Given the description of an element on the screen output the (x, y) to click on. 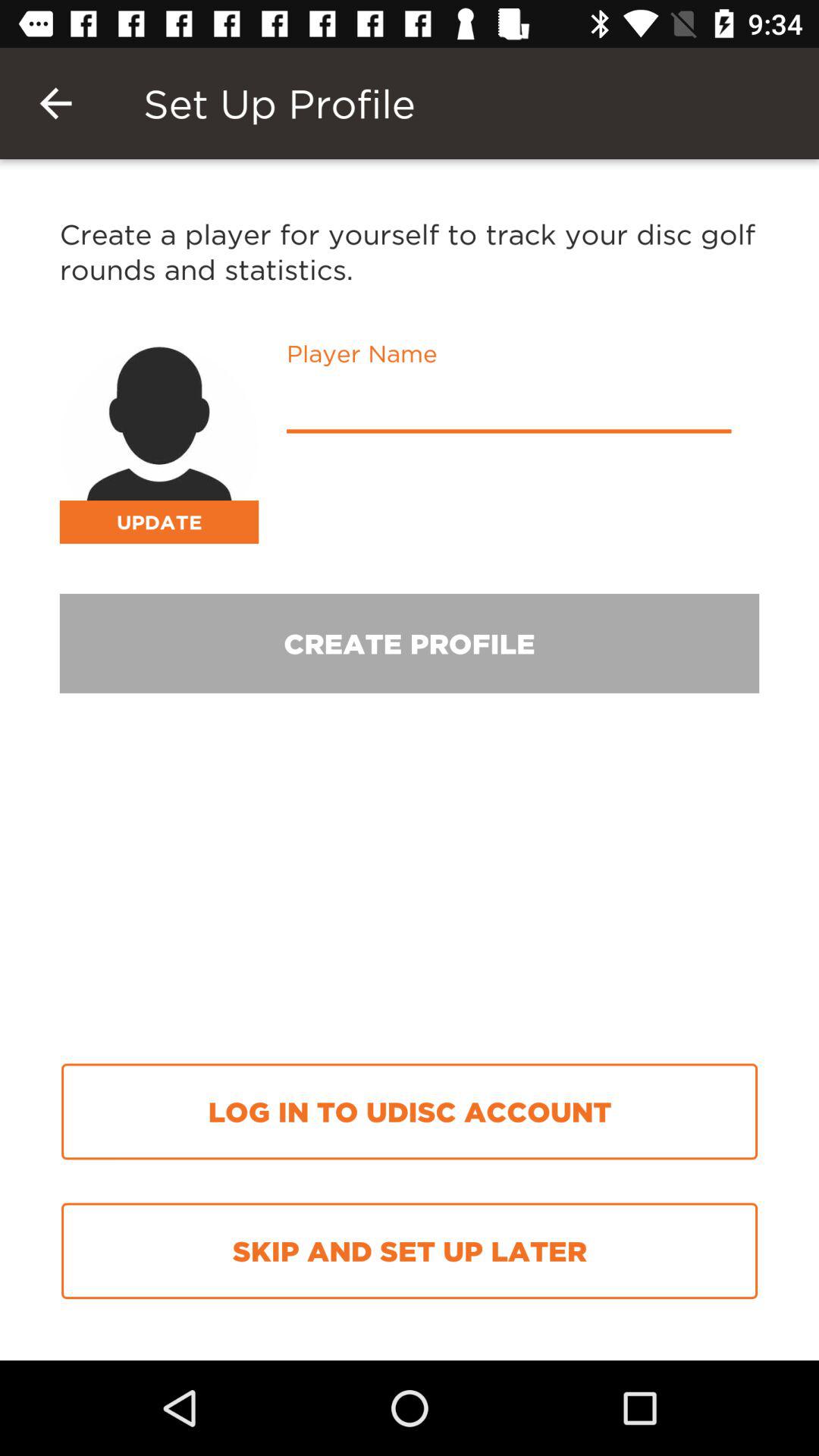
add a picture (158, 443)
